Given the description of an element on the screen output the (x, y) to click on. 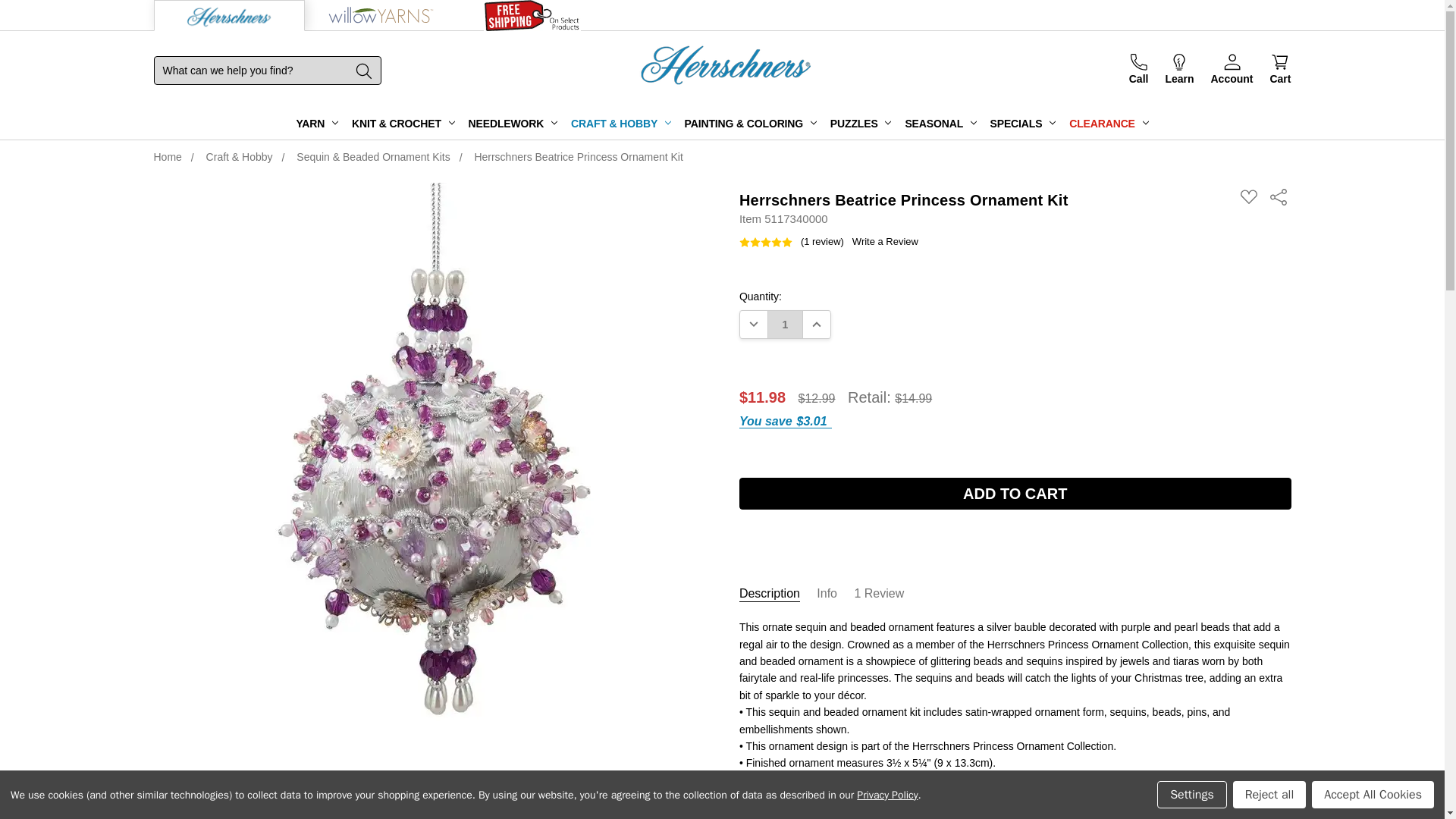
Add to Cart (1015, 493)
Submit search (363, 69)
Account (1232, 70)
Willow Yarns logo (380, 15)
Submit search (363, 71)
Herrschners (229, 17)
YARN (316, 124)
Willow Yarns logo (380, 15)
Herrschners (1067, 127)
Herrschners (726, 66)
Christmas logo (532, 15)
1 (785, 324)
